Given the description of an element on the screen output the (x, y) to click on. 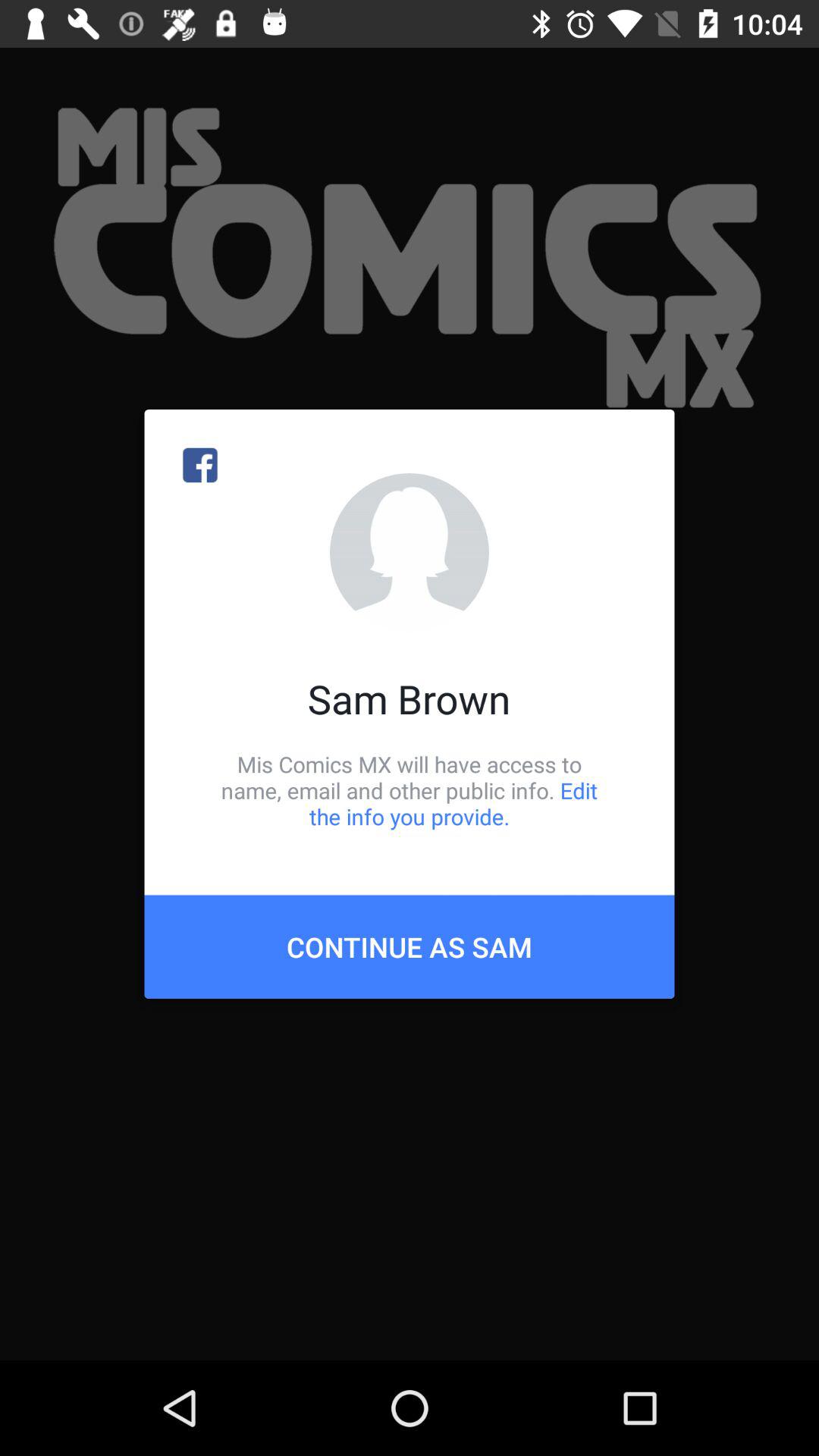
scroll to continue as sam icon (409, 946)
